Given the description of an element on the screen output the (x, y) to click on. 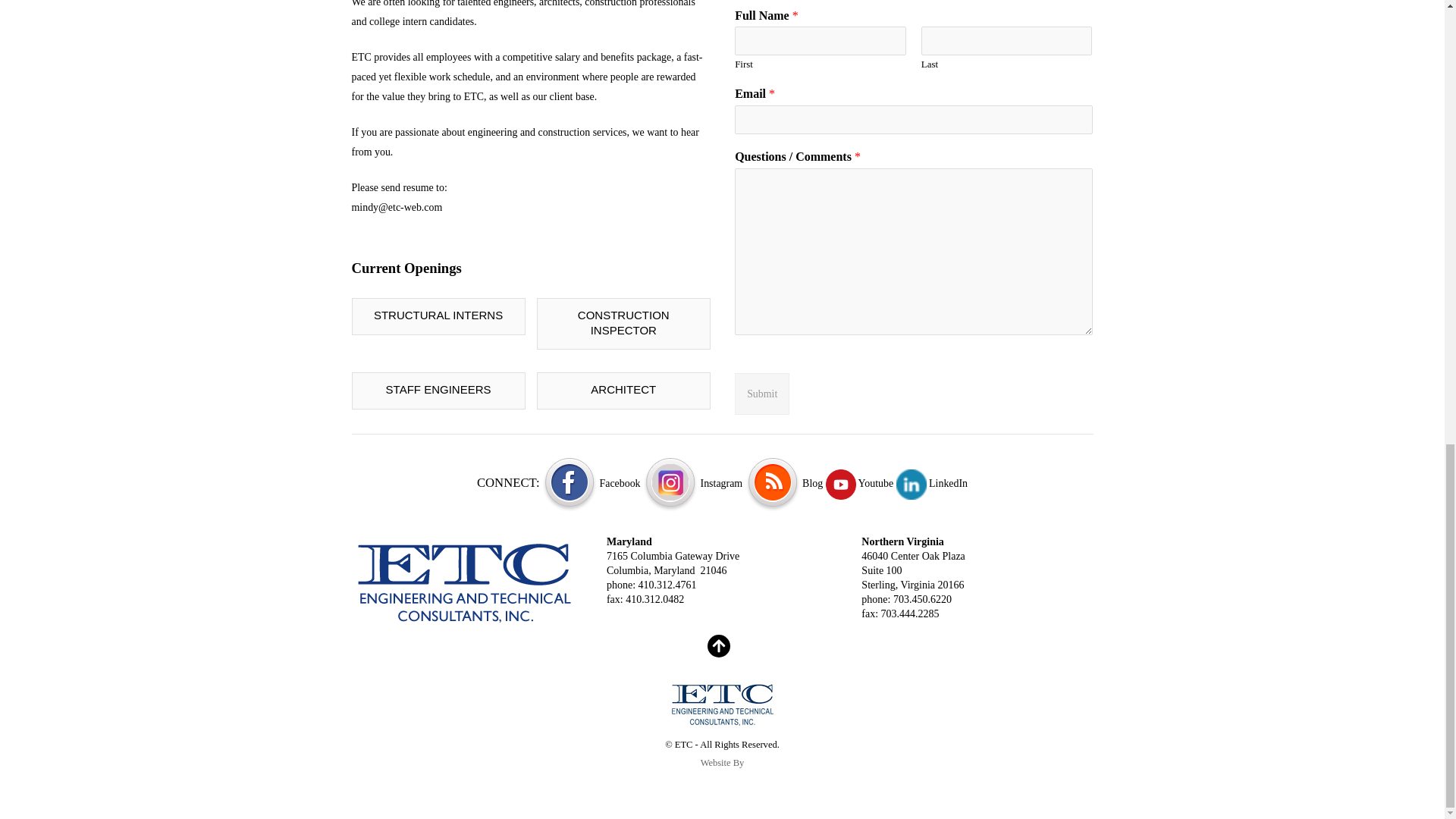
Contact Us (465, 581)
Instagram (692, 482)
Facebook (590, 482)
LinkedIn (932, 482)
Blog (784, 482)
Youtube Channel (859, 482)
